Given the description of an element on the screen output the (x, y) to click on. 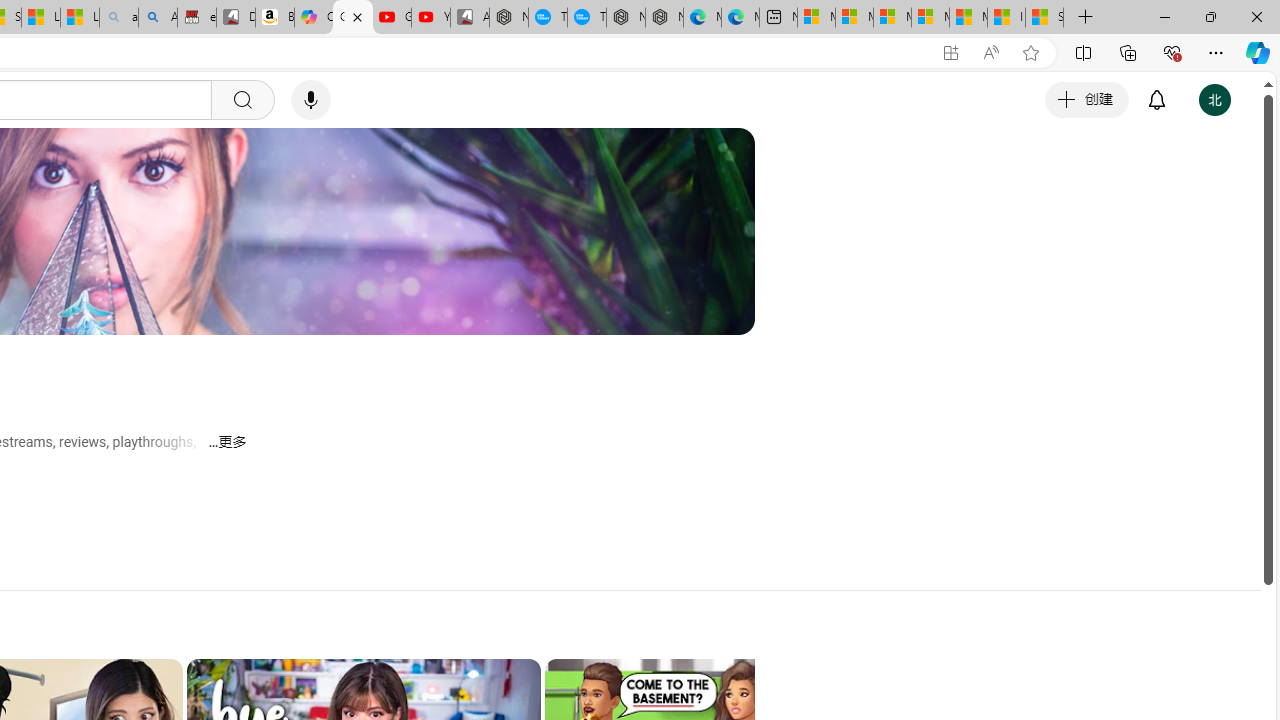
Nordace - My Account (509, 17)
App available. Install YouTube (950, 53)
Copilot (313, 17)
I Gained 20 Pounds of Muscle in 30 Days! | Watch (1006, 17)
